Given the description of an element on the screen output the (x, y) to click on. 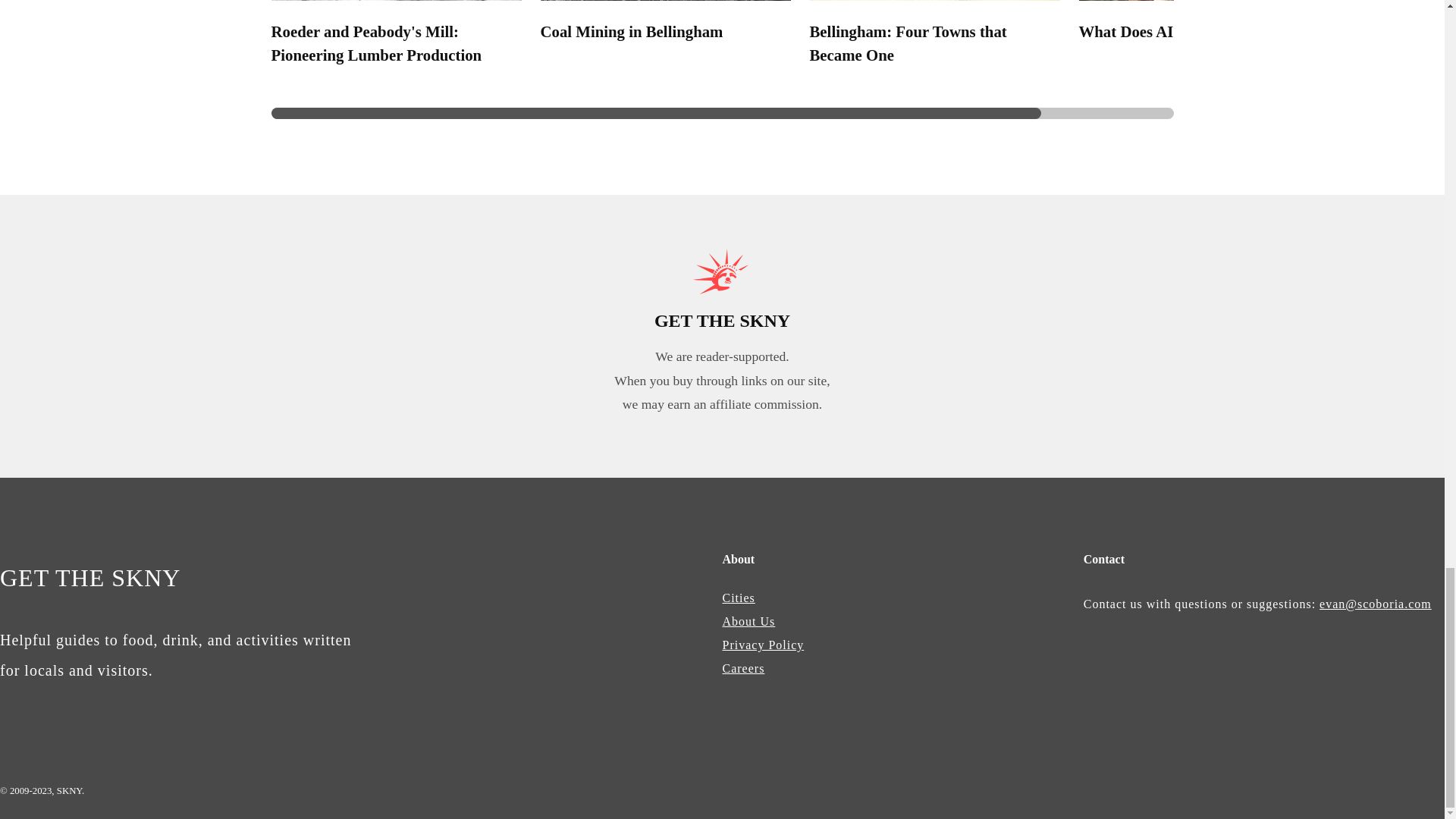
About Us (748, 621)
Cities (738, 597)
Privacy Policy (762, 644)
Bellingham: Four Towns that Became One (908, 42)
Coal Mining in Bellingham (631, 31)
Careers (743, 667)
Roeder and Peabody's Mill: Pioneering Lumber Production (375, 42)
What Does AI Think of Bellingham? (1200, 31)
